Given the description of an element on the screen output the (x, y) to click on. 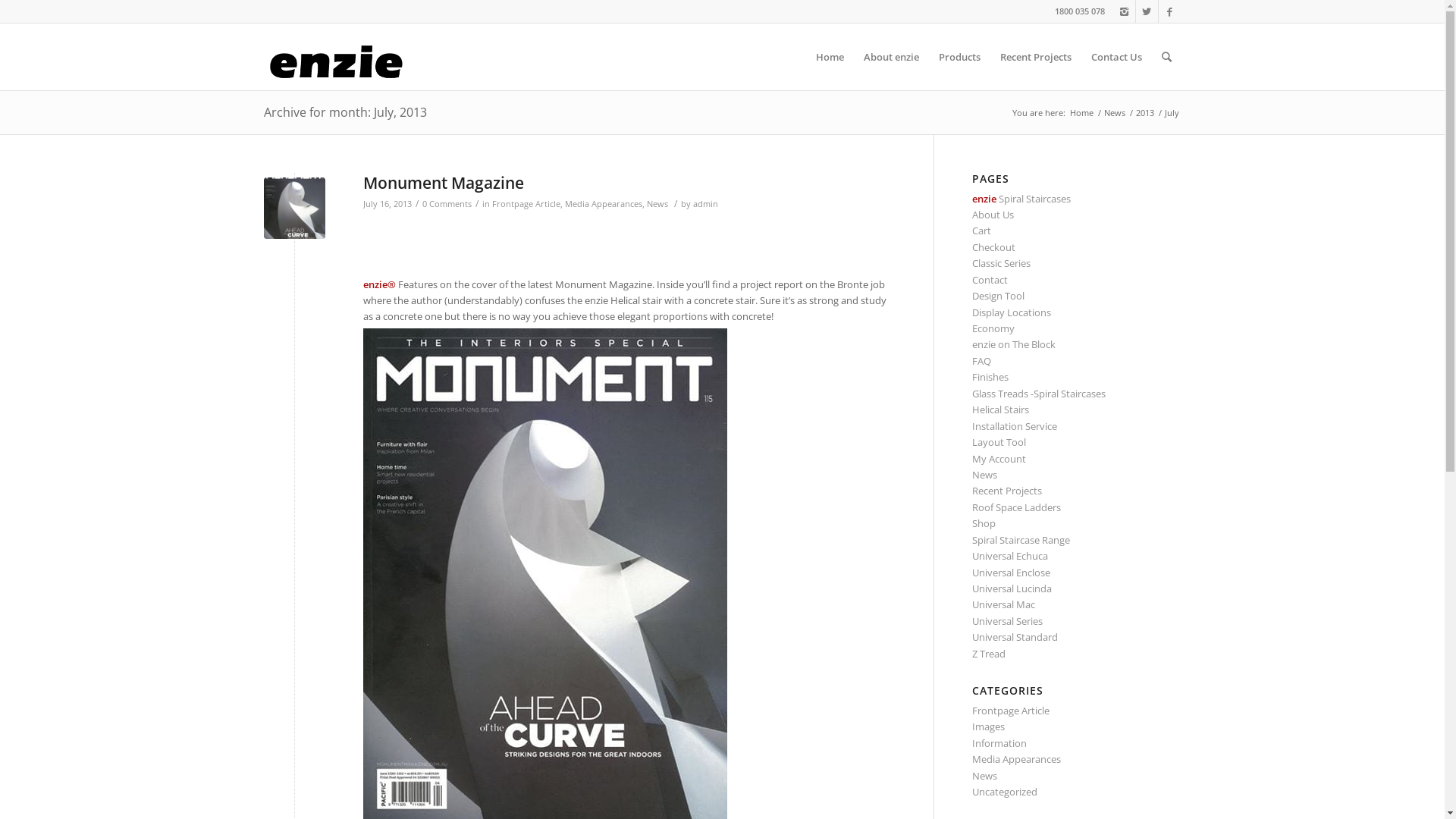
Display Locations Element type: text (1011, 312)
Universal Series Element type: text (1007, 620)
Universal Enclose Element type: text (1011, 572)
FAQ Element type: text (981, 360)
Monument Magazine Element type: hover (294, 207)
Frontpage Article Element type: text (1010, 710)
Facebook Element type: hover (1169, 11)
Helical Stairs Element type: text (1000, 409)
Information Element type: text (999, 742)
Classic Series Element type: text (1001, 262)
News Element type: text (656, 203)
Z Tread Element type: text (988, 653)
Universal Mac Element type: text (1003, 604)
Images Element type: text (988, 726)
Frontpage Article Element type: text (525, 203)
News Element type: text (984, 474)
Cart Element type: text (981, 230)
Universal Echuca Element type: text (1010, 555)
Universal Lucinda Element type: text (1011, 588)
Products Element type: text (958, 56)
News Element type: text (984, 775)
Layout Tool Element type: text (999, 441)
About Us Element type: text (992, 214)
Recent Projects Element type: text (1035, 56)
Checkout Element type: text (993, 247)
Uncategorized Element type: text (1004, 791)
admin Element type: text (705, 203)
Finishes Element type: text (990, 376)
News Element type: text (1113, 112)
Shop Element type: text (983, 523)
Media Appearances Element type: text (1016, 758)
Roof Space Ladders Element type: text (1016, 507)
Installation Service Element type: text (1014, 426)
About enzie Element type: text (890, 56)
Universal Standard Element type: text (1014, 636)
Instagram Element type: hover (1124, 11)
enzie Spiral Staircases Element type: text (1021, 198)
Twitter Element type: hover (1146, 11)
Home Element type: text (1081, 112)
Home Element type: text (829, 56)
Monument Magazine Element type: text (442, 182)
2013 Element type: text (1143, 112)
Spiral Staircase Range Element type: text (1021, 539)
enzie on The Block Element type: text (1013, 344)
Glass Treads -Spiral Staircases Element type: text (1038, 393)
0 Comments Element type: text (445, 203)
Contact Element type: text (989, 279)
Recent Projects Element type: text (1006, 490)
Contact Us Element type: text (1116, 56)
My Account Element type: text (999, 458)
Media Appearances Element type: text (602, 203)
Economy Element type: text (993, 328)
Design Tool Element type: text (998, 295)
